Given the description of an element on the screen output the (x, y) to click on. 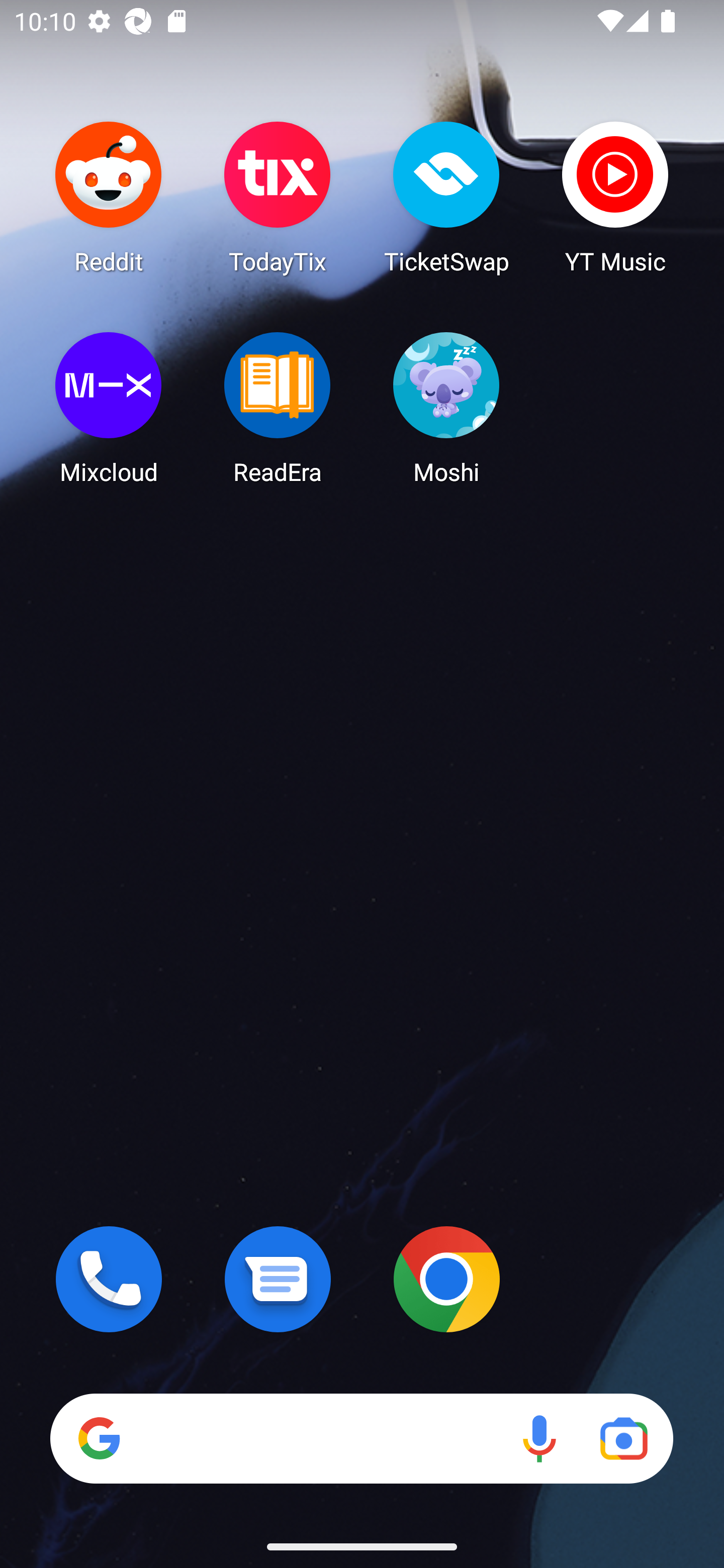
Reddit (108, 196)
TodayTix (277, 196)
TicketSwap (445, 196)
YT Music (615, 196)
Mixcloud (108, 407)
ReadEra (277, 407)
Moshi (445, 407)
Phone (108, 1279)
Messages (277, 1279)
Chrome (446, 1279)
Search Voice search Google Lens (361, 1438)
Voice search (539, 1438)
Google Lens (623, 1438)
